Given the description of an element on the screen output the (x, y) to click on. 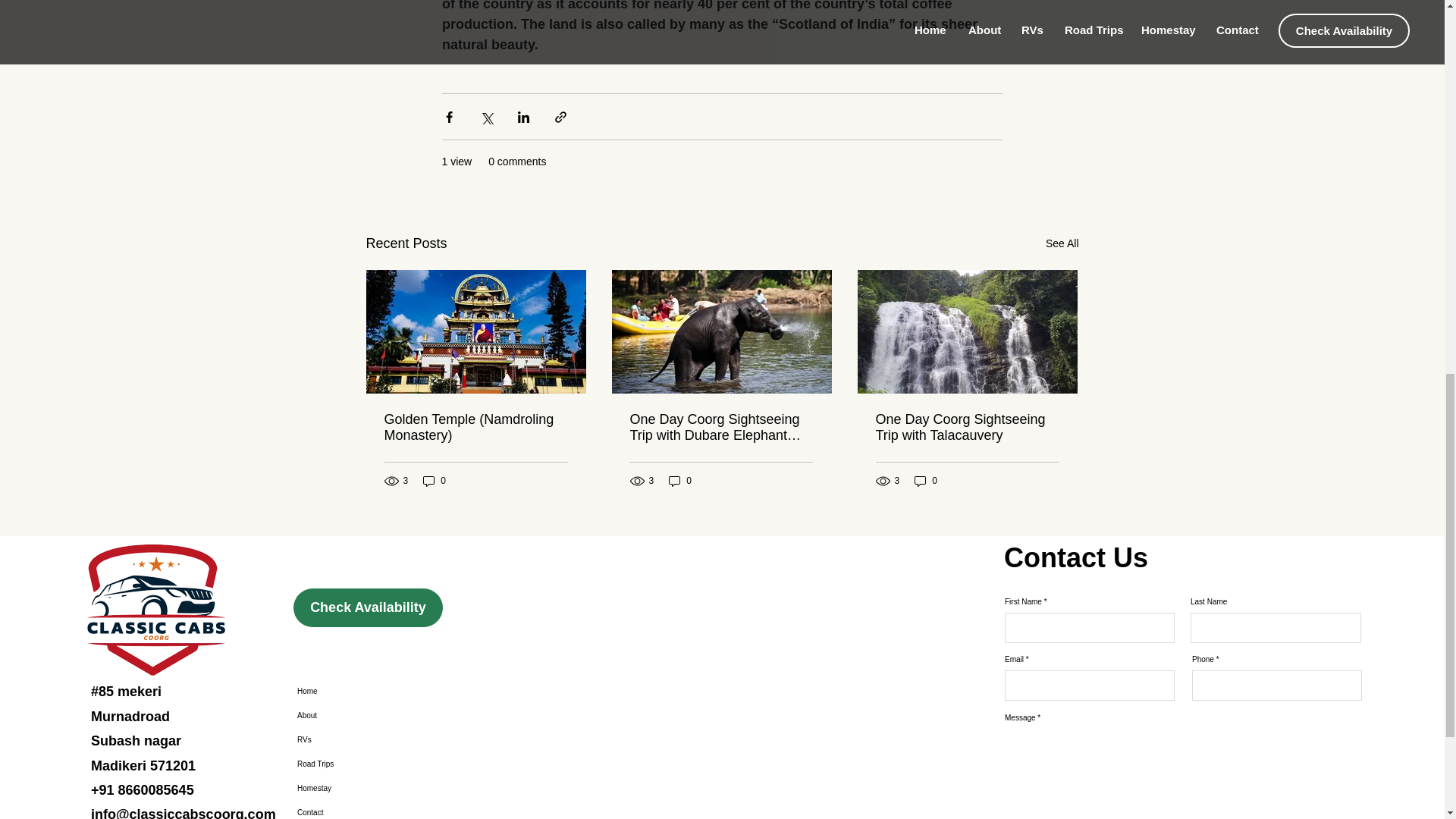
0 (434, 481)
See All (1061, 243)
Road Trips (366, 764)
0 (925, 481)
One Day Coorg Sightseeing Trip with Talacauvery (966, 427)
Homestay (366, 788)
RVs (366, 740)
Check Availability (368, 607)
Home (366, 691)
0 (679, 481)
Contact (366, 809)
About (366, 715)
One Day Coorg Sightseeing Trip with Dubare Elephant Camp (720, 427)
